Given the description of an element on the screen output the (x, y) to click on. 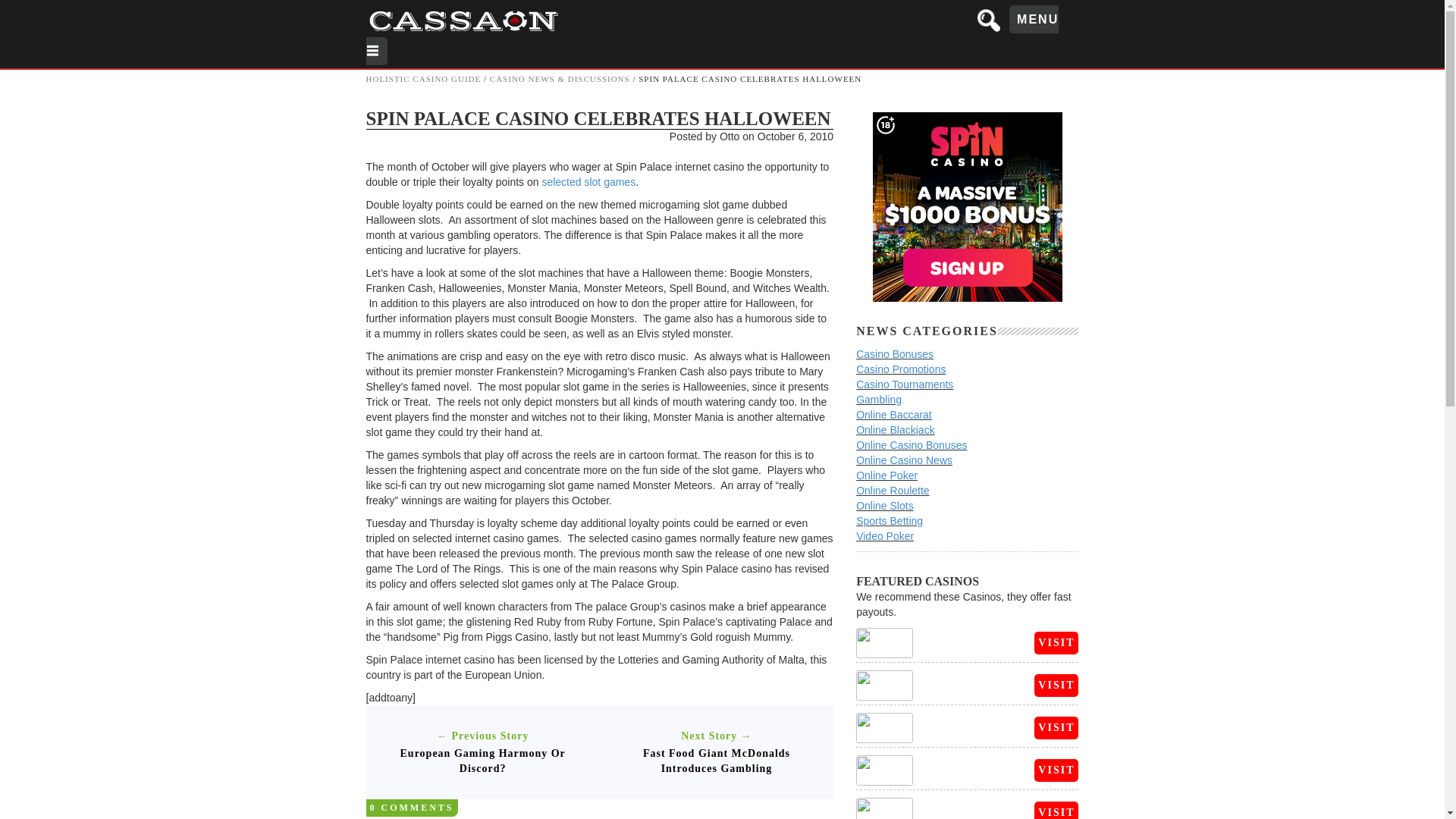
Online Poker (886, 475)
Online Slots (884, 505)
Online Baccarat (893, 414)
Casino Bonuses (894, 354)
Video Poker (885, 535)
VISIT (1055, 642)
Sports Betting (889, 521)
European Gaming Harmony Or Discord? (482, 761)
Online Roulette (893, 490)
Online Casino Bonuses (911, 444)
Search efter: (990, 19)
Online Casino News (904, 460)
Casino Tournaments (904, 384)
Casino Promotions (900, 369)
HOLISTIC CASINO GUIDE (422, 78)
